Given the description of an element on the screen output the (x, y) to click on. 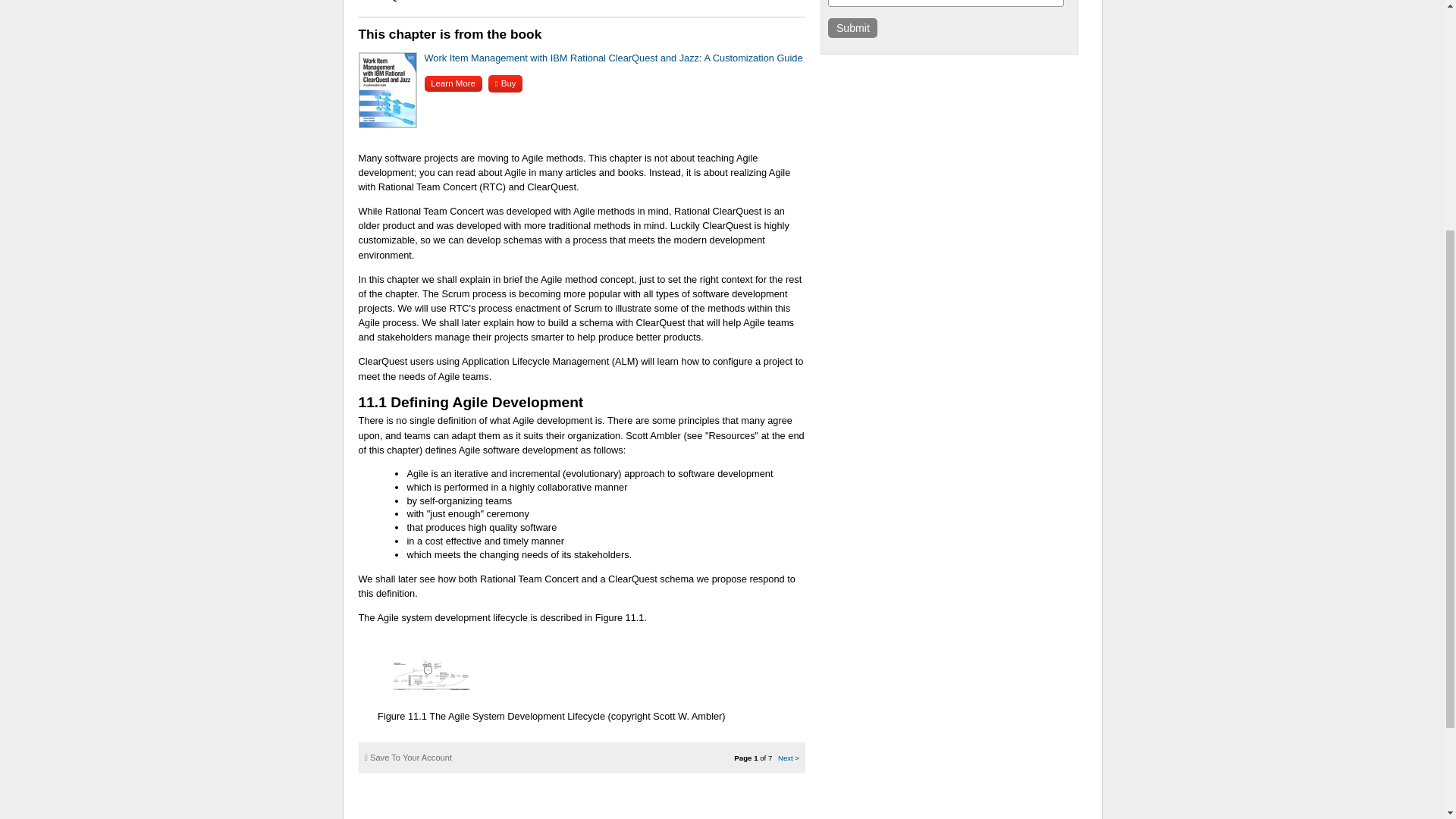
Figure 11.1 (401, 715)
Submit (852, 27)
Submit (852, 27)
Learn More (453, 83)
Figure 11.1 (620, 617)
